Given the description of an element on the screen output the (x, y) to click on. 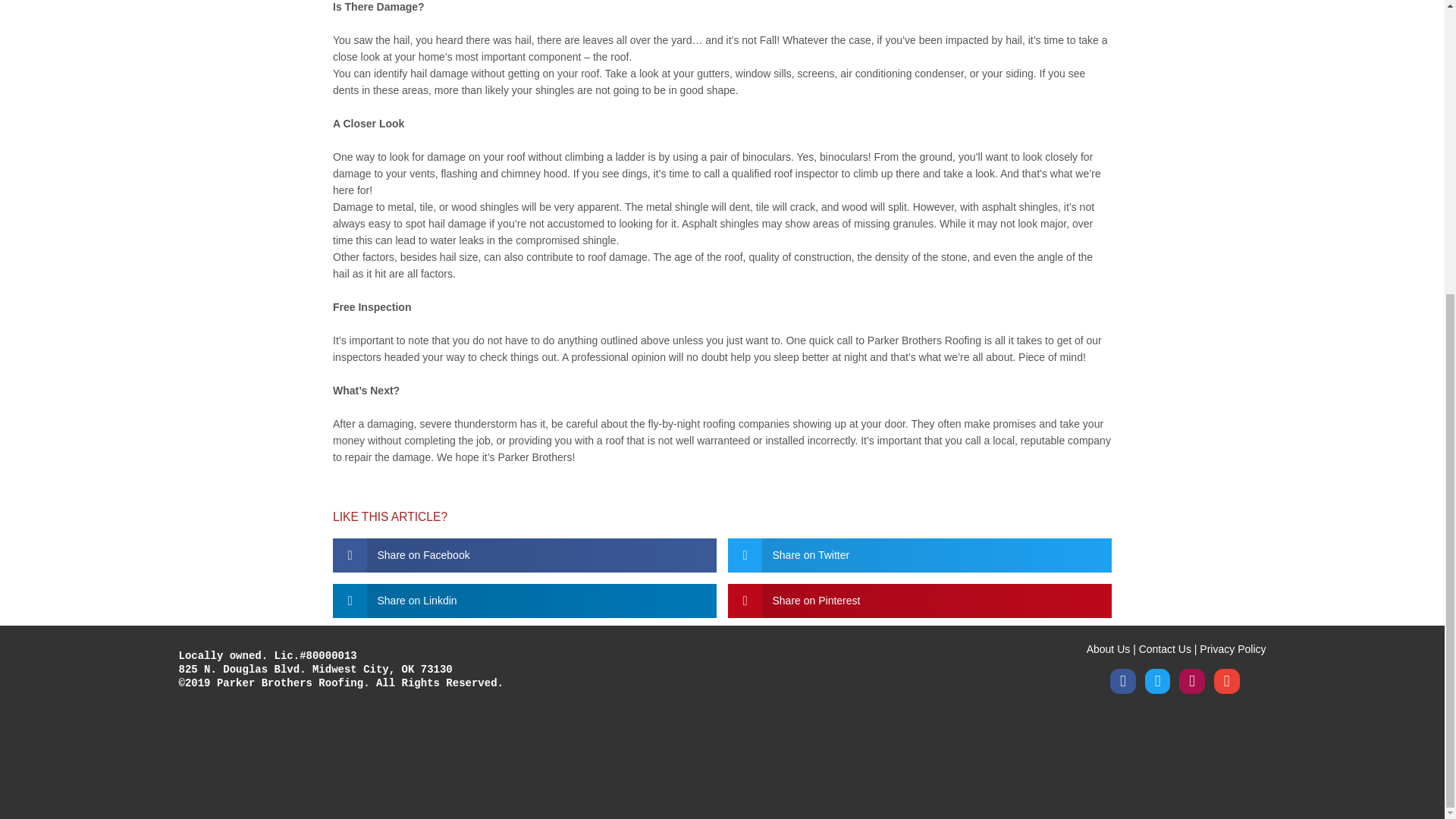
Privacy Policy (1232, 648)
Contact Us (1164, 648)
About Us (1108, 648)
